Given the description of an element on the screen output the (x, y) to click on. 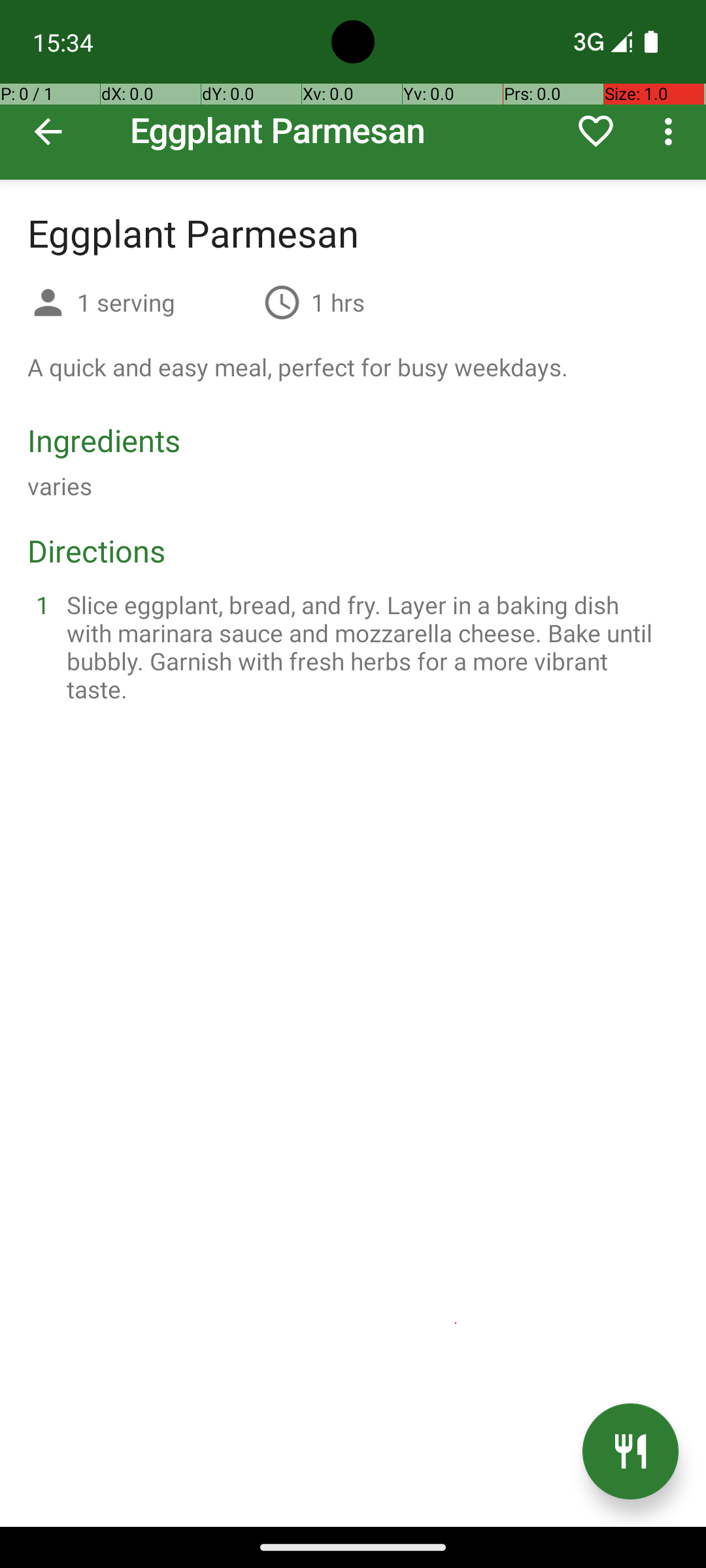
1 hrs Element type: android.widget.TextView (337, 301)
varies Element type: android.widget.TextView (59, 485)
Slice eggplant, bread, and fry. Layer in a baking dish with marinara sauce and mozzarella cheese. Bake until bubbly. Garnish with fresh herbs for a more vibrant taste. Element type: android.widget.TextView (368, 646)
